Given the description of an element on the screen output the (x, y) to click on. 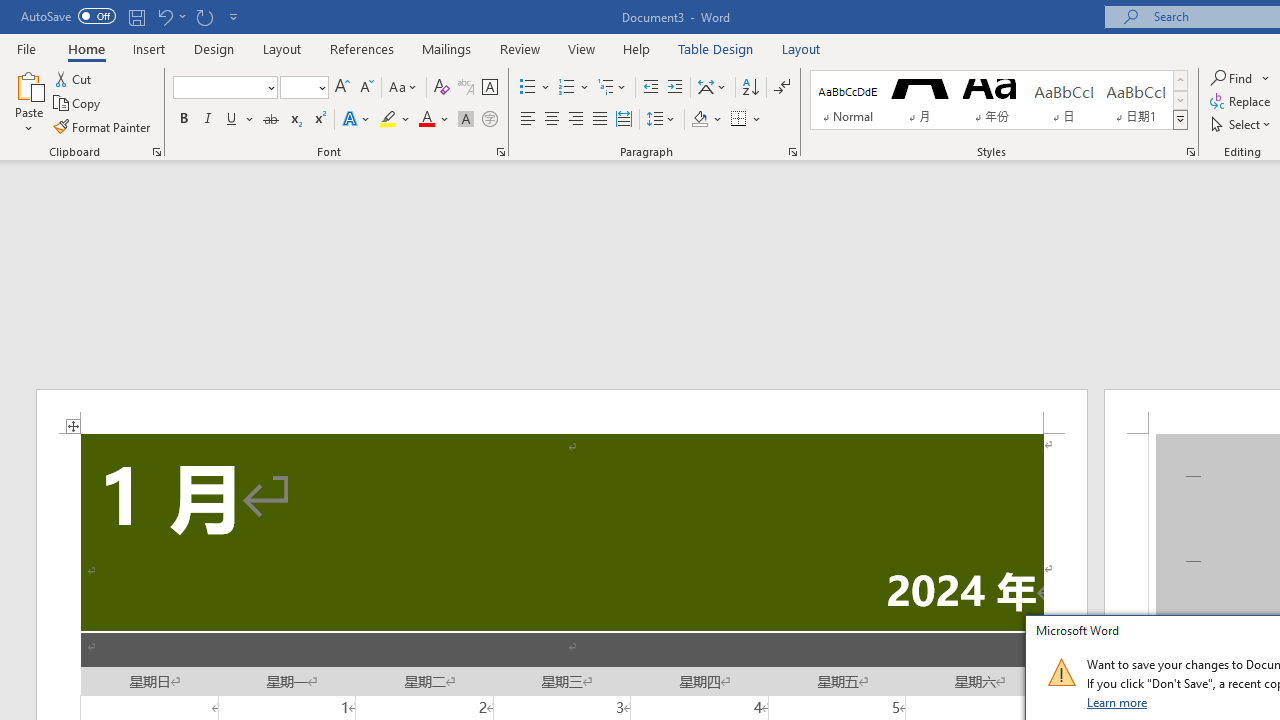
Repeat Copy (204, 15)
